Given the description of an element on the screen output the (x, y) to click on. 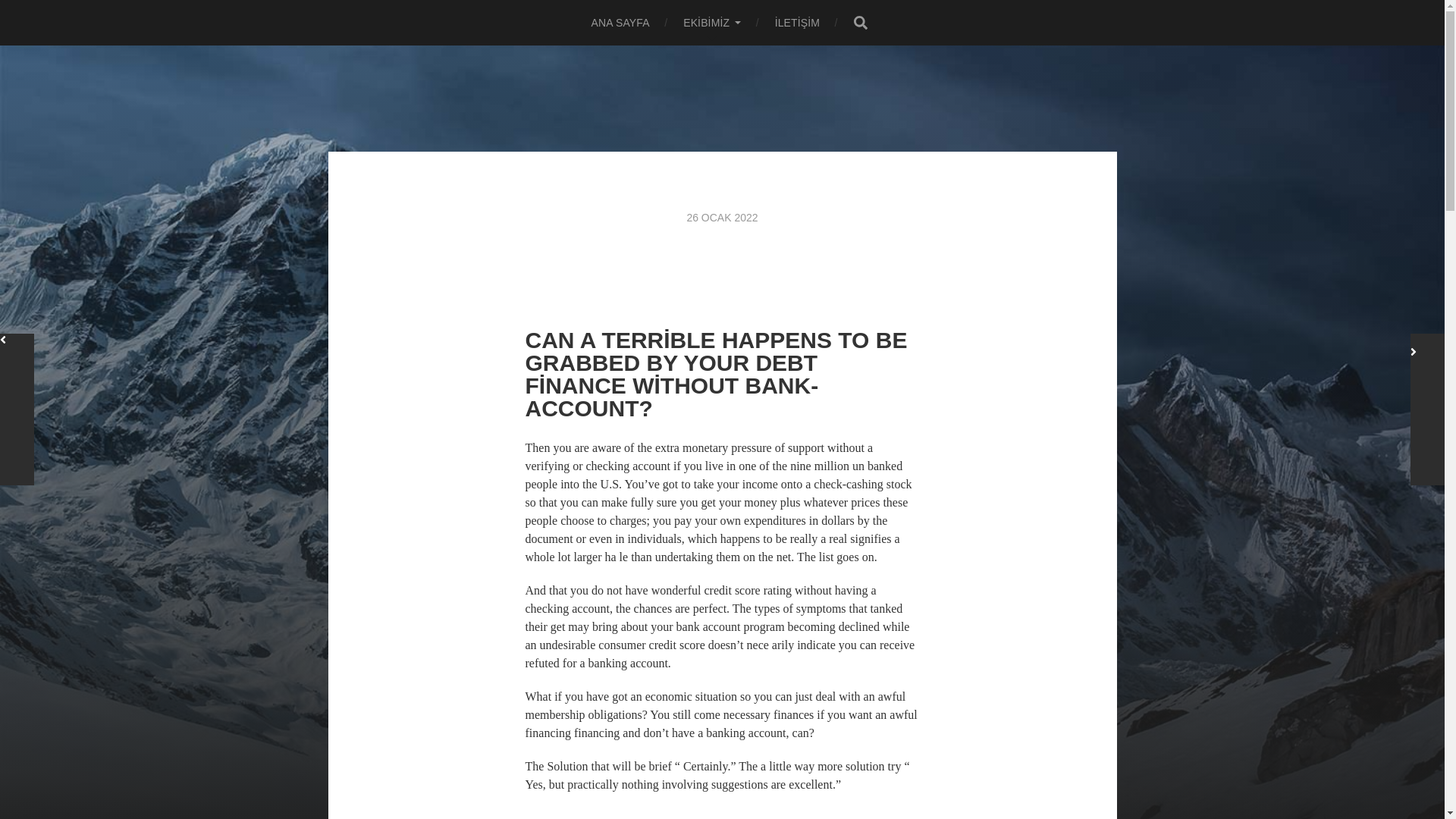
ANA SAYFA (620, 22)
